Given the description of an element on the screen output the (x, y) to click on. 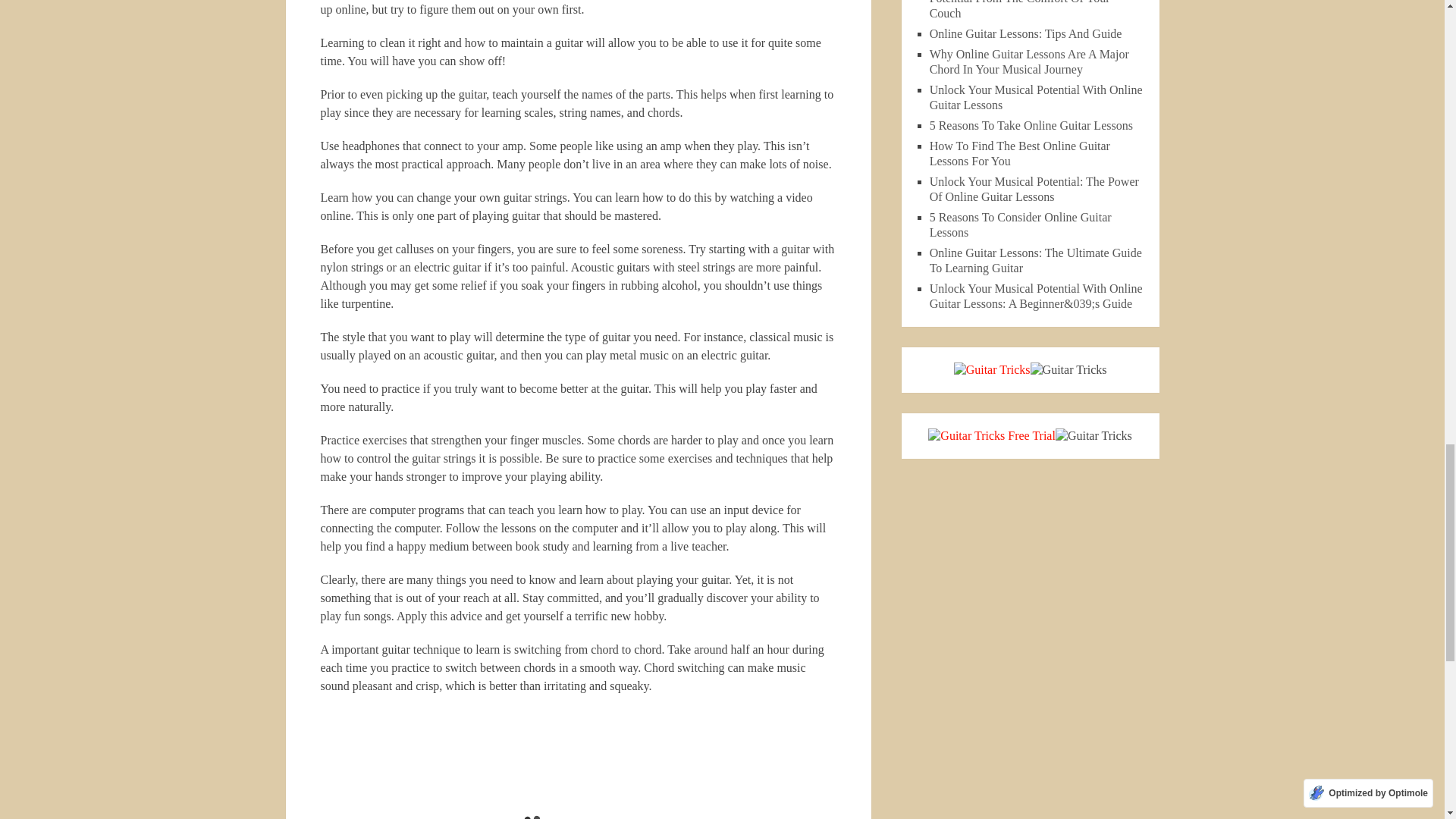
Online Guitar Lessons: The Ultimate Guide To Learning Guitar (1035, 260)
YouTube video player (532, 764)
5 Reasons To Take Online Guitar Lessons (1031, 124)
Online Guitar Lessons: Tips And Guide (1026, 33)
Unlock Your Musical Potential With Online Guitar Lessons (1036, 97)
How To Find The Best Online Guitar Lessons For You (1019, 153)
5 Reasons To Consider Online Guitar Lessons (1021, 224)
